Given the description of an element on the screen output the (x, y) to click on. 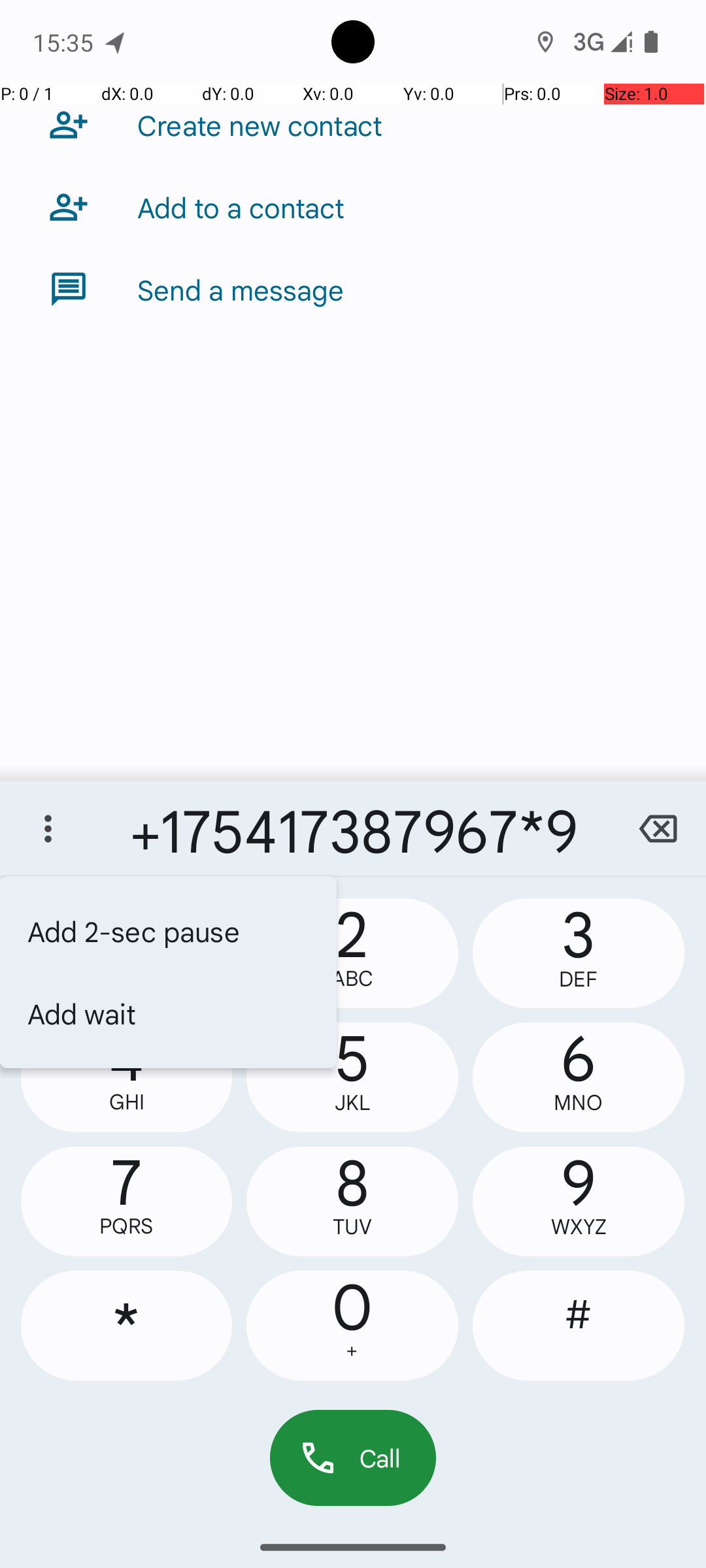
Add 2-sec pause Element type: android.widget.TextView (168, 930)
Add wait Element type: android.widget.TextView (168, 1012)
